Given the description of an element on the screen output the (x, y) to click on. 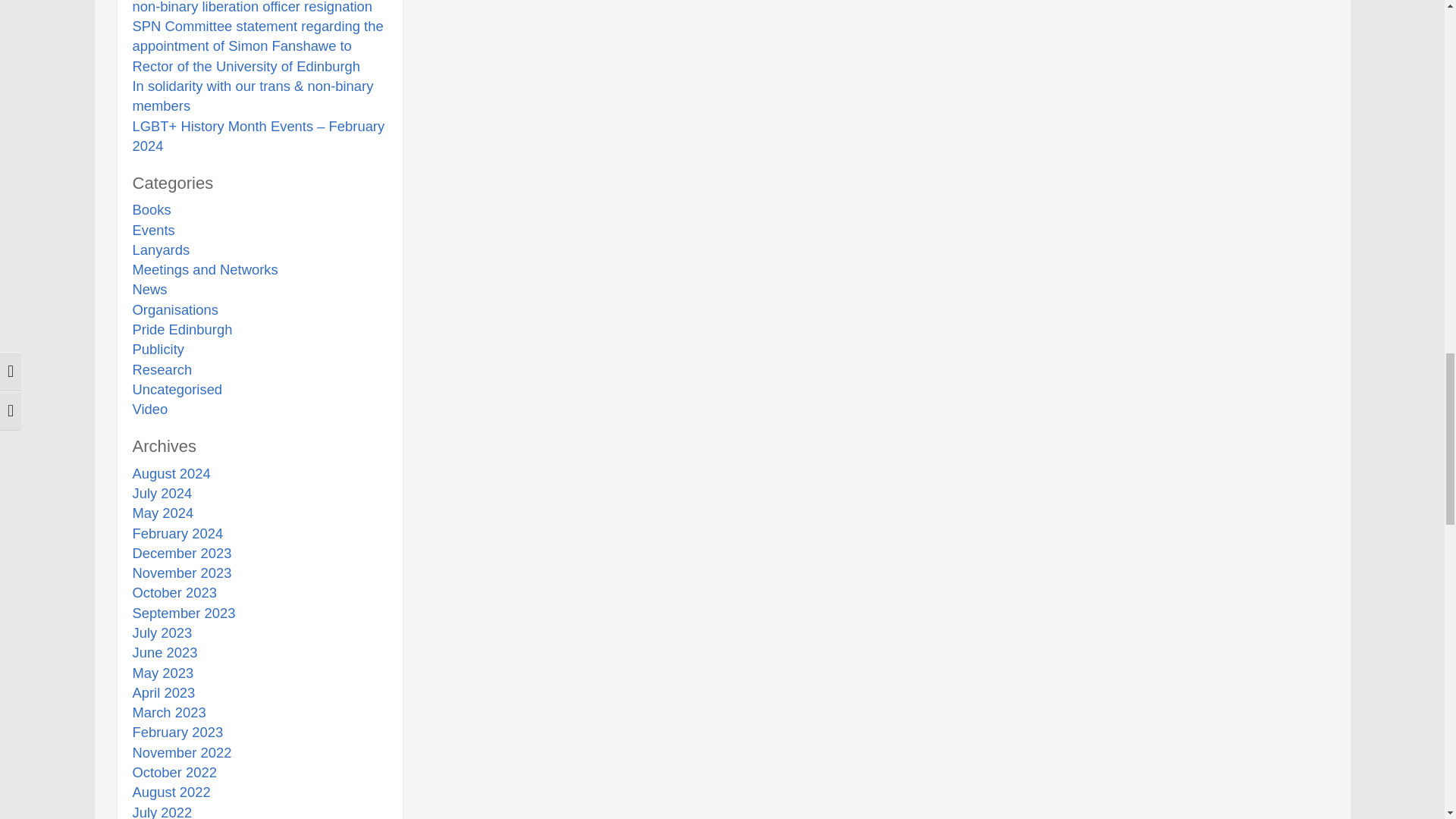
News (149, 289)
Lanyards (160, 249)
Meetings and Networks (205, 269)
Events (153, 229)
Organisations (174, 309)
Books (151, 209)
Pride Edinburgh (181, 329)
